Given the description of an element on the screen output the (x, y) to click on. 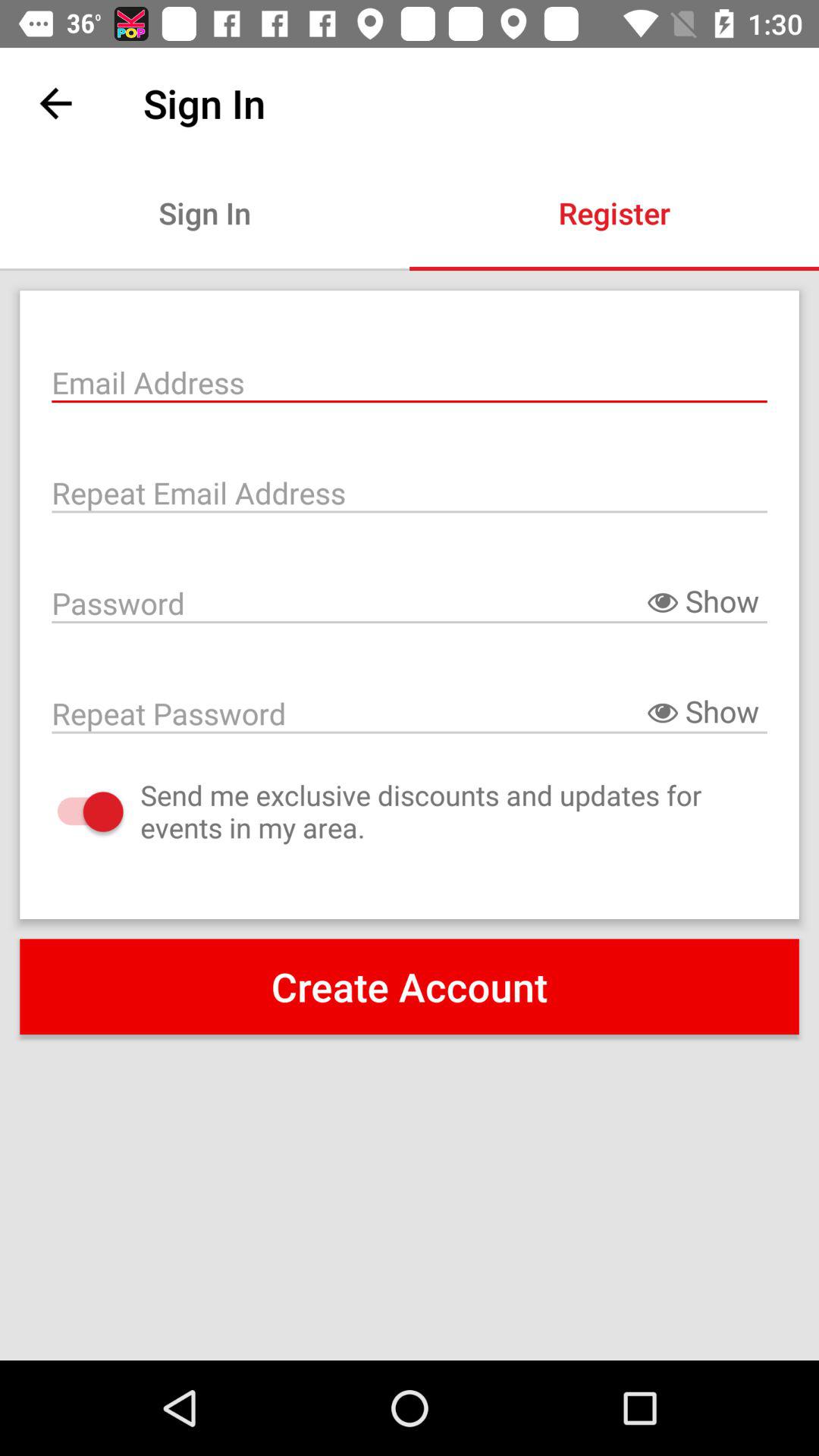
go back (55, 103)
